Given the description of an element on the screen output the (x, y) to click on. 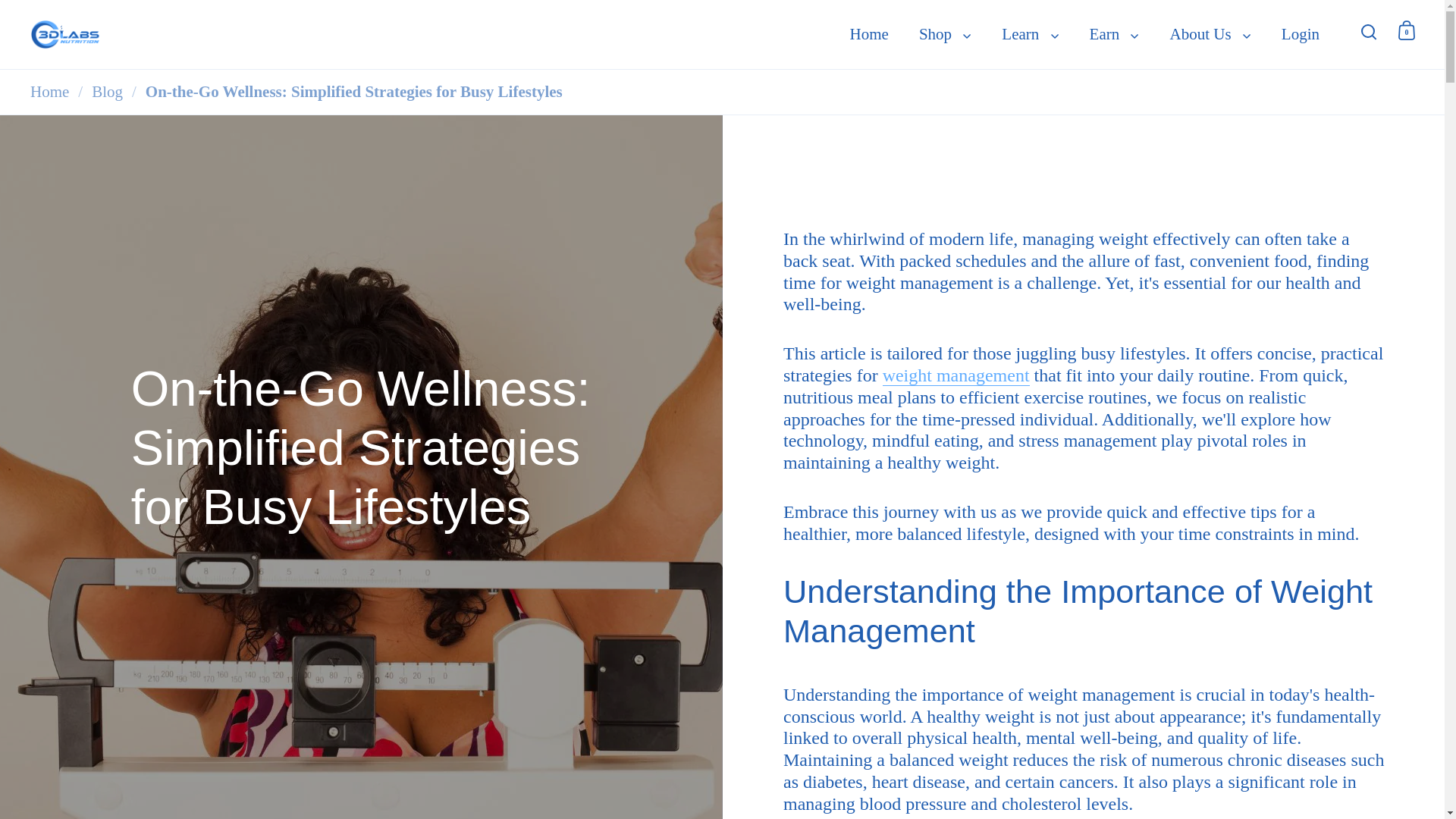
Home (869, 34)
Learn (1030, 34)
Open cart (1406, 30)
Login (1300, 34)
Shop (945, 34)
Open search (1369, 30)
About Us (1209, 34)
Earn (1114, 34)
